Given the description of an element on the screen output the (x, y) to click on. 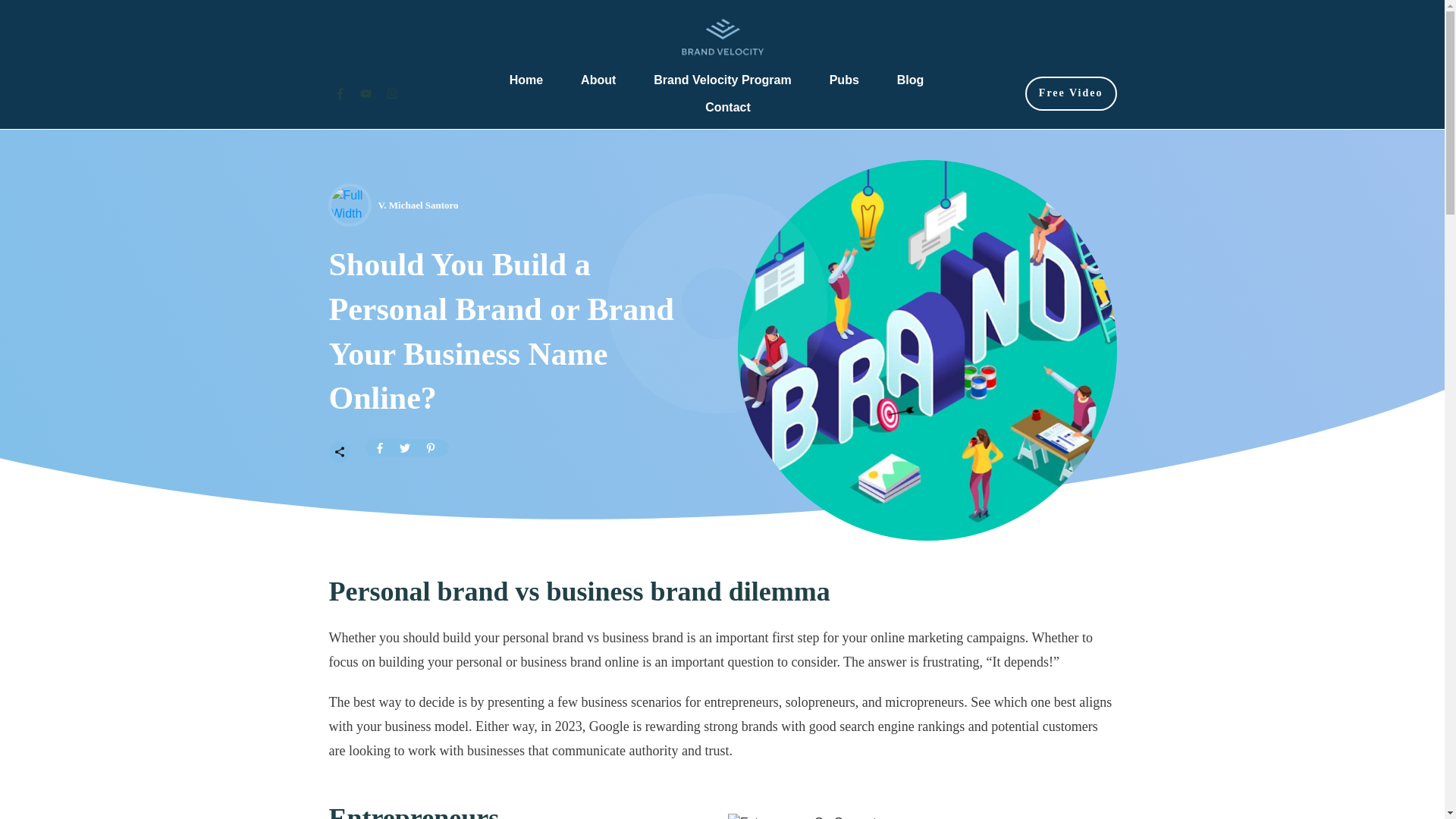
Home (526, 79)
Pubs (844, 79)
Full Width Featured Image With Sidebar (349, 204)
About (597, 79)
Entrepreneur On Computer (922, 816)
Free Video (1070, 93)
Contact (727, 107)
Brand Velocity Program (721, 79)
Blog (910, 79)
